Given the description of an element on the screen output the (x, y) to click on. 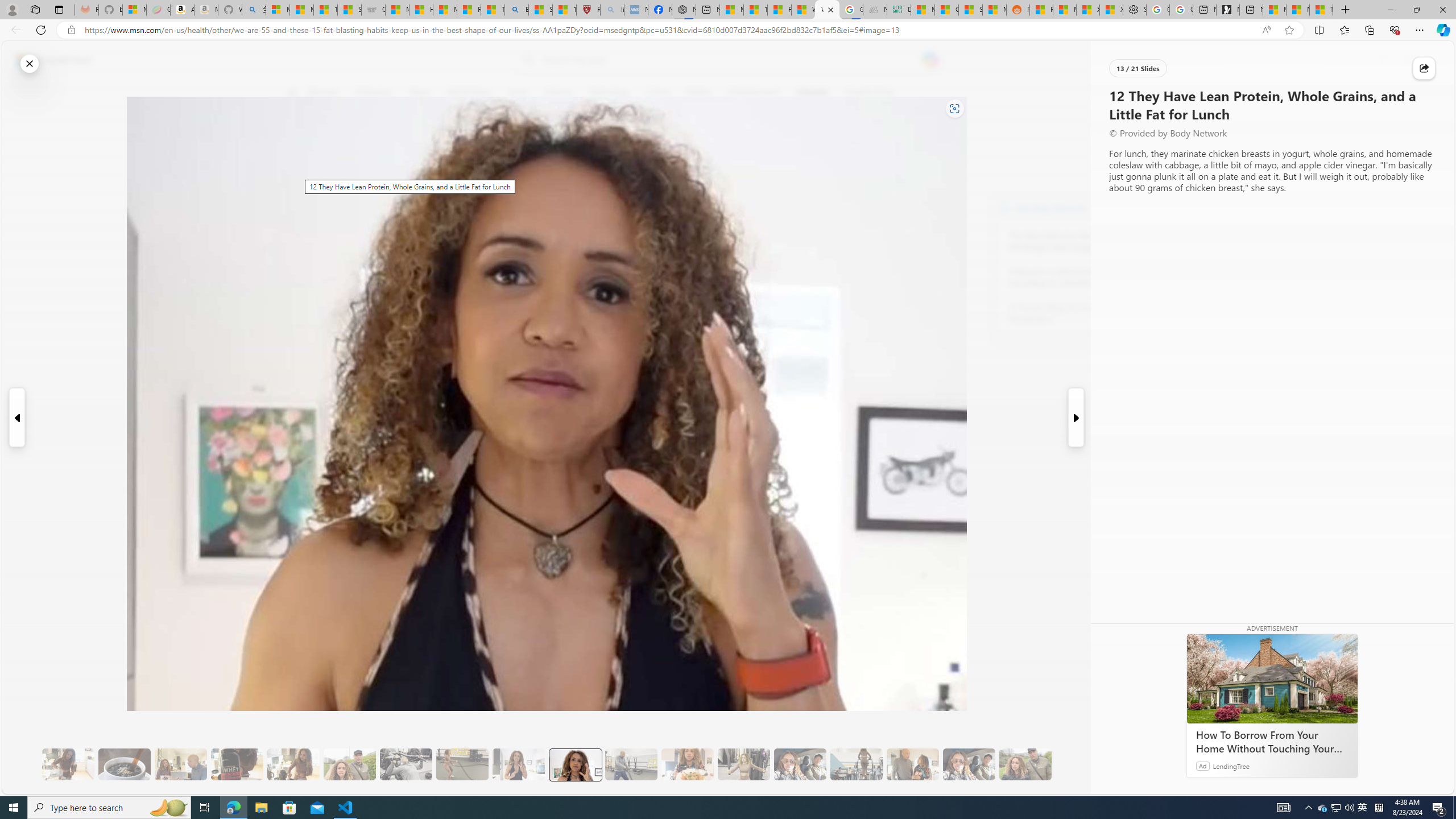
19 It Also Simplifies Thiings (968, 764)
Crime (657, 92)
6 (299, 170)
10 Then, They Do HIIT Cardio (462, 764)
16 The Couple's Program Helps with Accountability (800, 764)
